Given the description of an element on the screen output the (x, y) to click on. 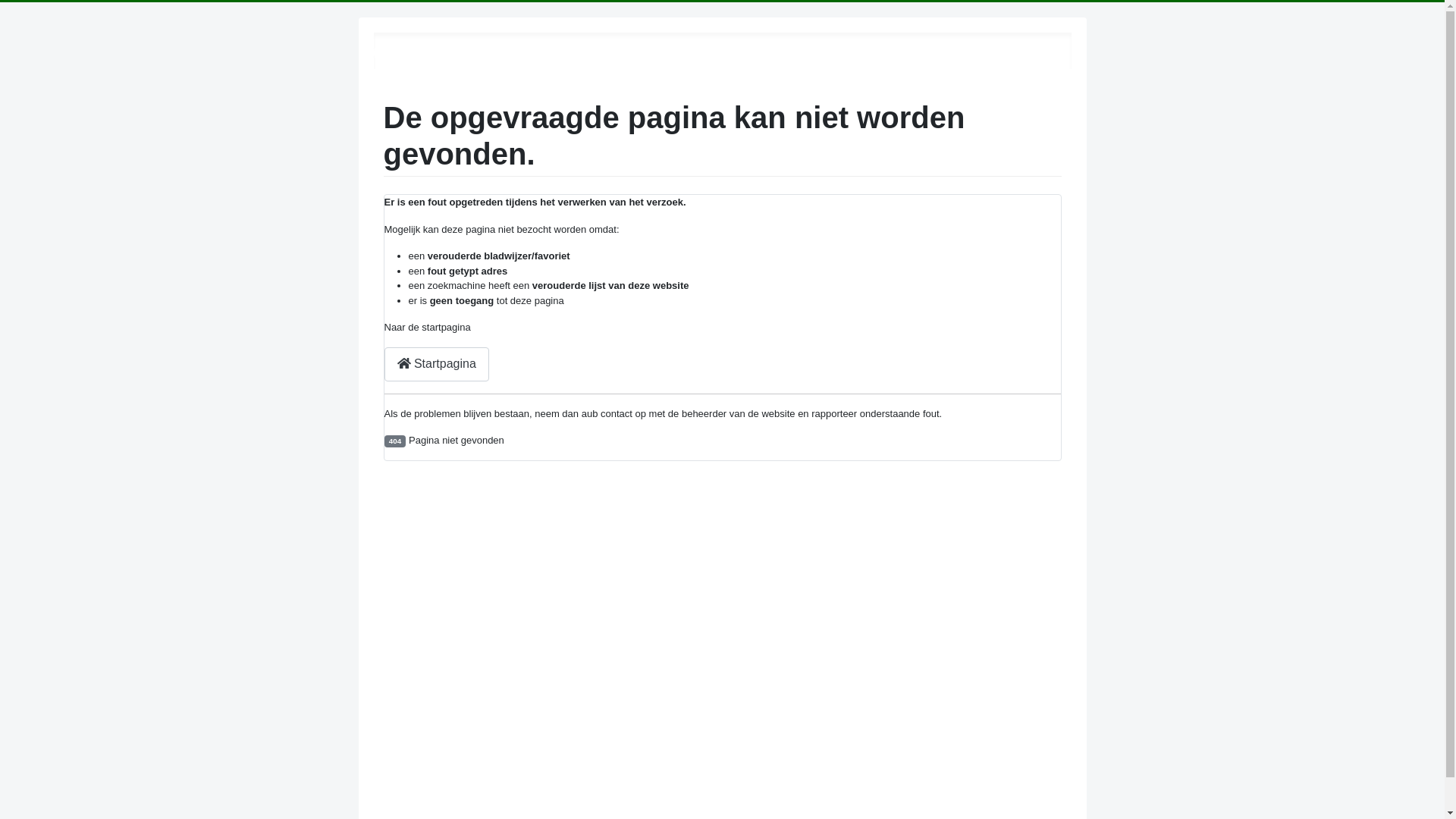
Startpagina Element type: text (435, 364)
